Given the description of an element on the screen output the (x, y) to click on. 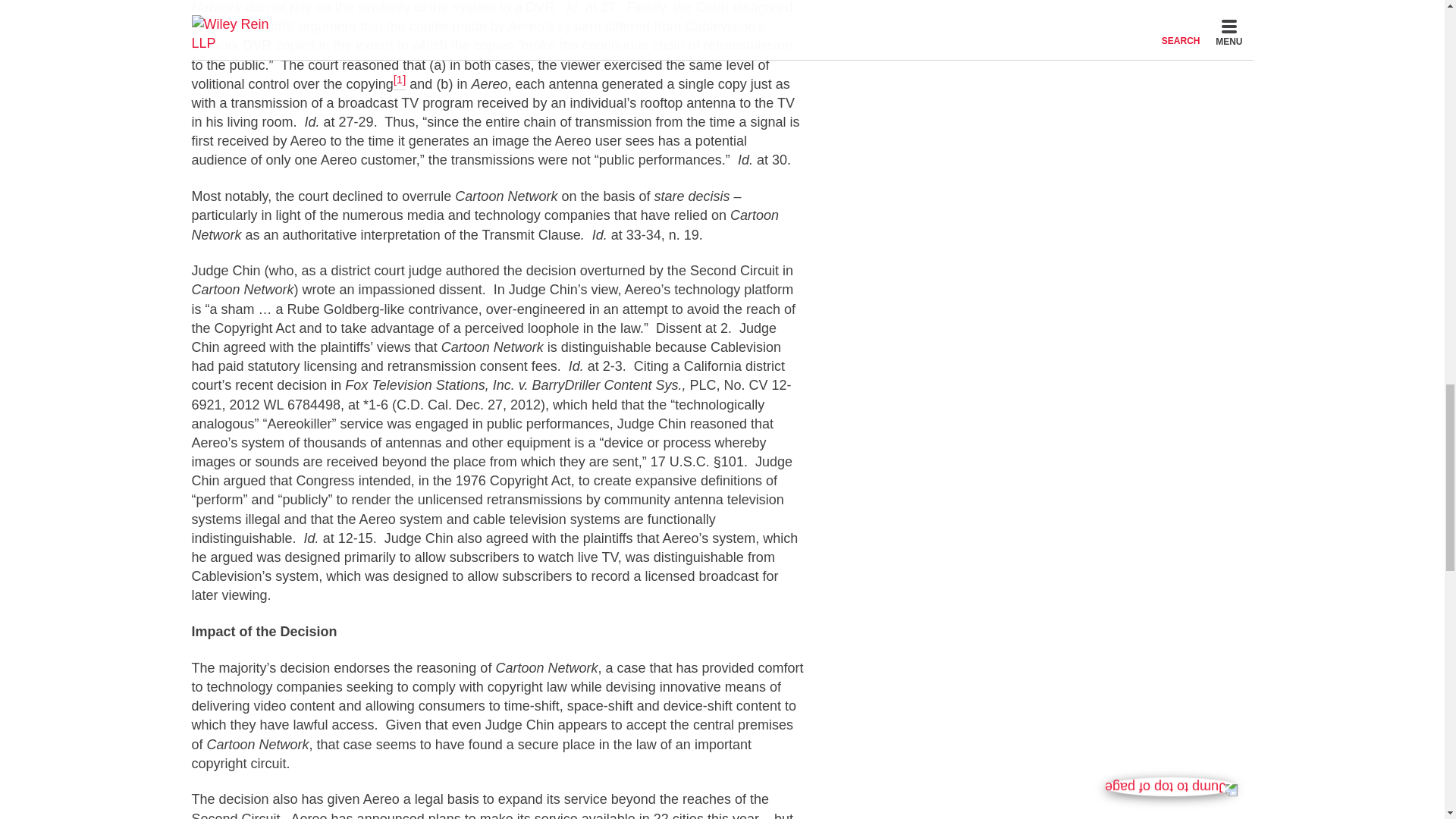
Jump to top of page (1171, 69)
